Given the description of an element on the screen output the (x, y) to click on. 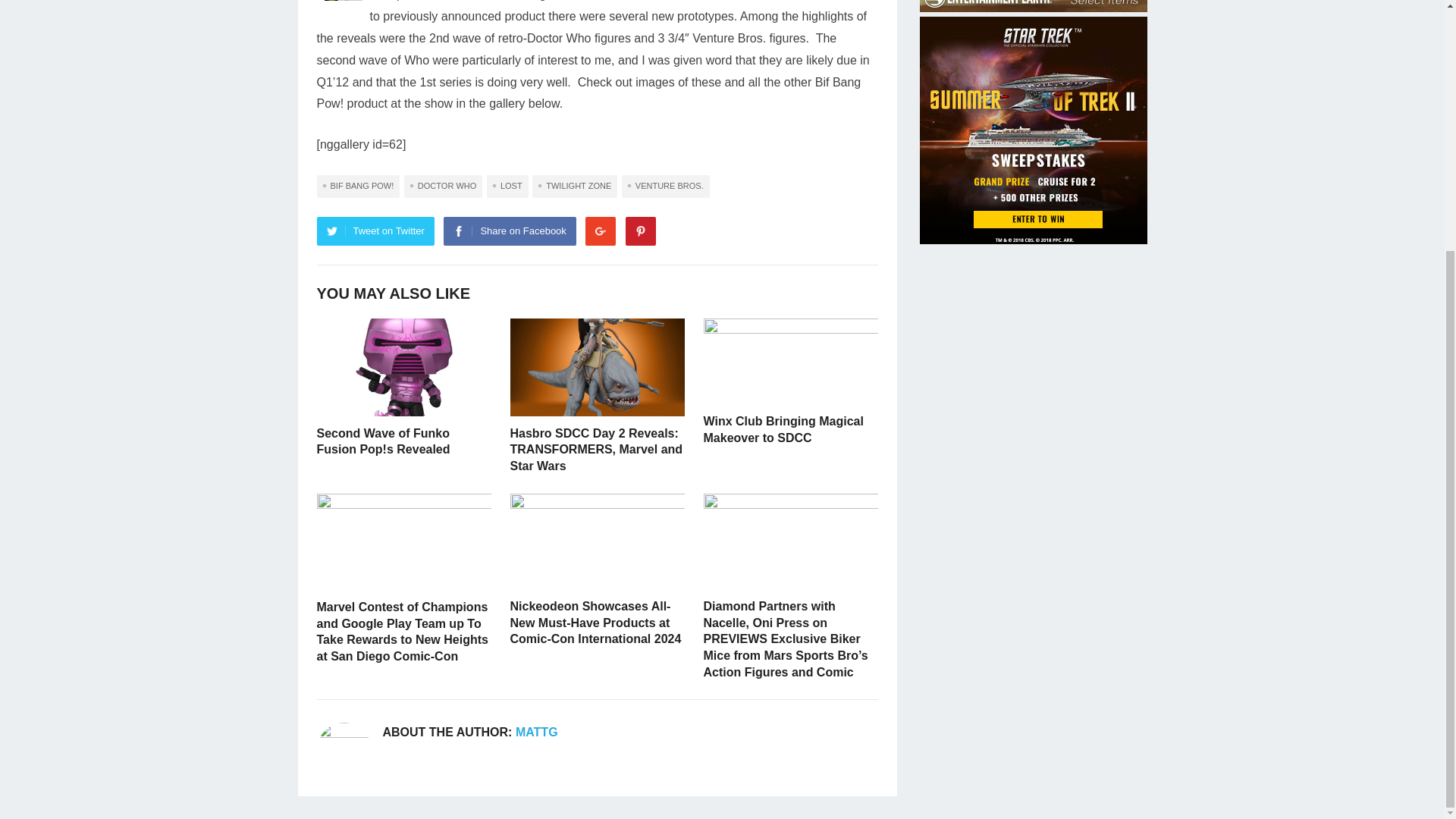
Winx Club Bringing Magical Makeover to SDCC (783, 429)
BIF BANG POW! (358, 186)
TWILIGHT ZONE (574, 186)
Tweet on Twitter (375, 231)
Pinterest (641, 231)
Share on Facebook (509, 231)
Second Wave of Funko Fusion Pop!s Revealed (383, 441)
DOCTOR WHO (442, 186)
MATTG (536, 731)
VENTURE BROS. (665, 186)
LOST (507, 186)
